Given the description of an element on the screen output the (x, y) to click on. 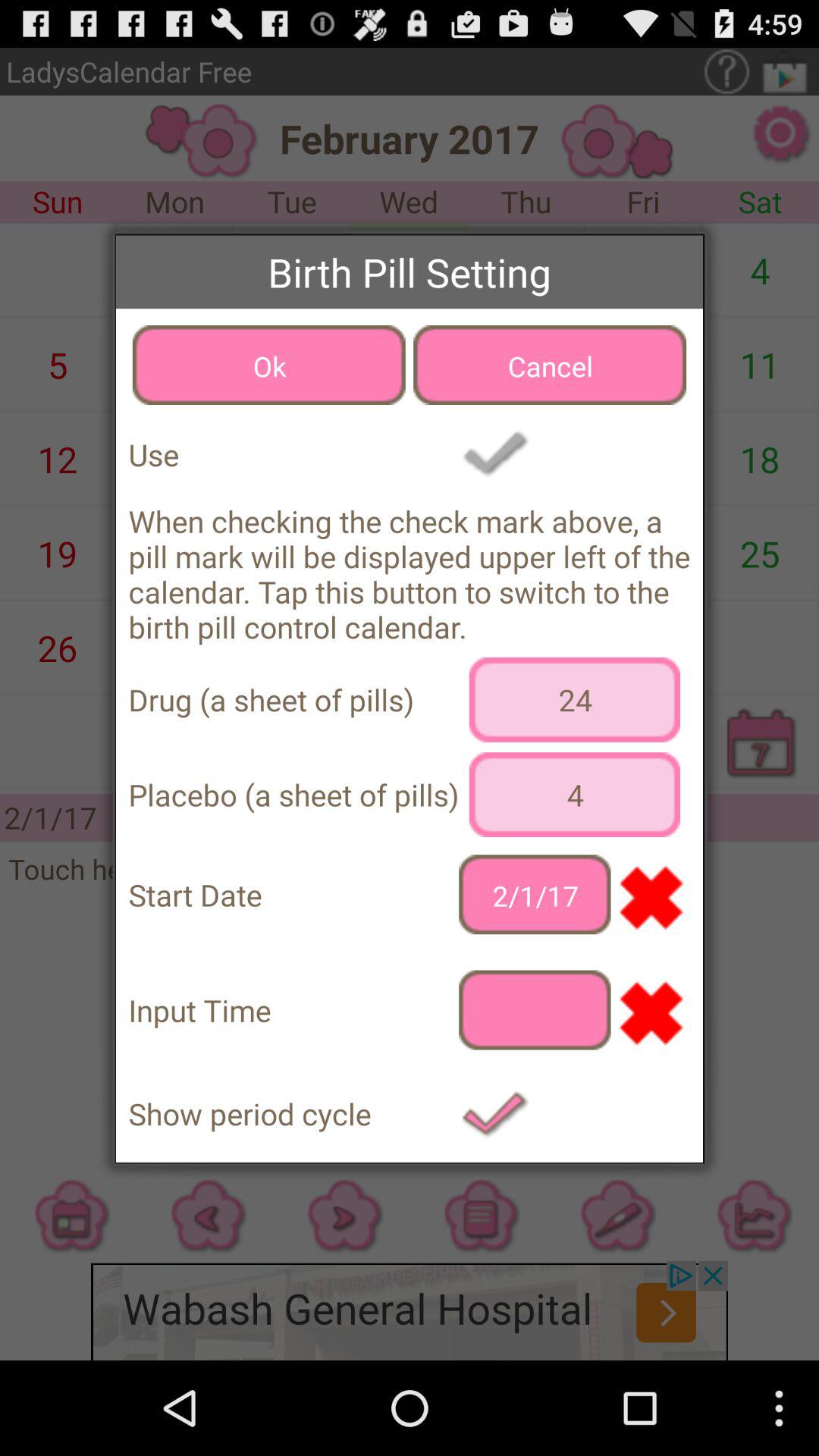
press icon next to 2/1/17 icon (650, 894)
